Given the description of an element on the screen output the (x, y) to click on. 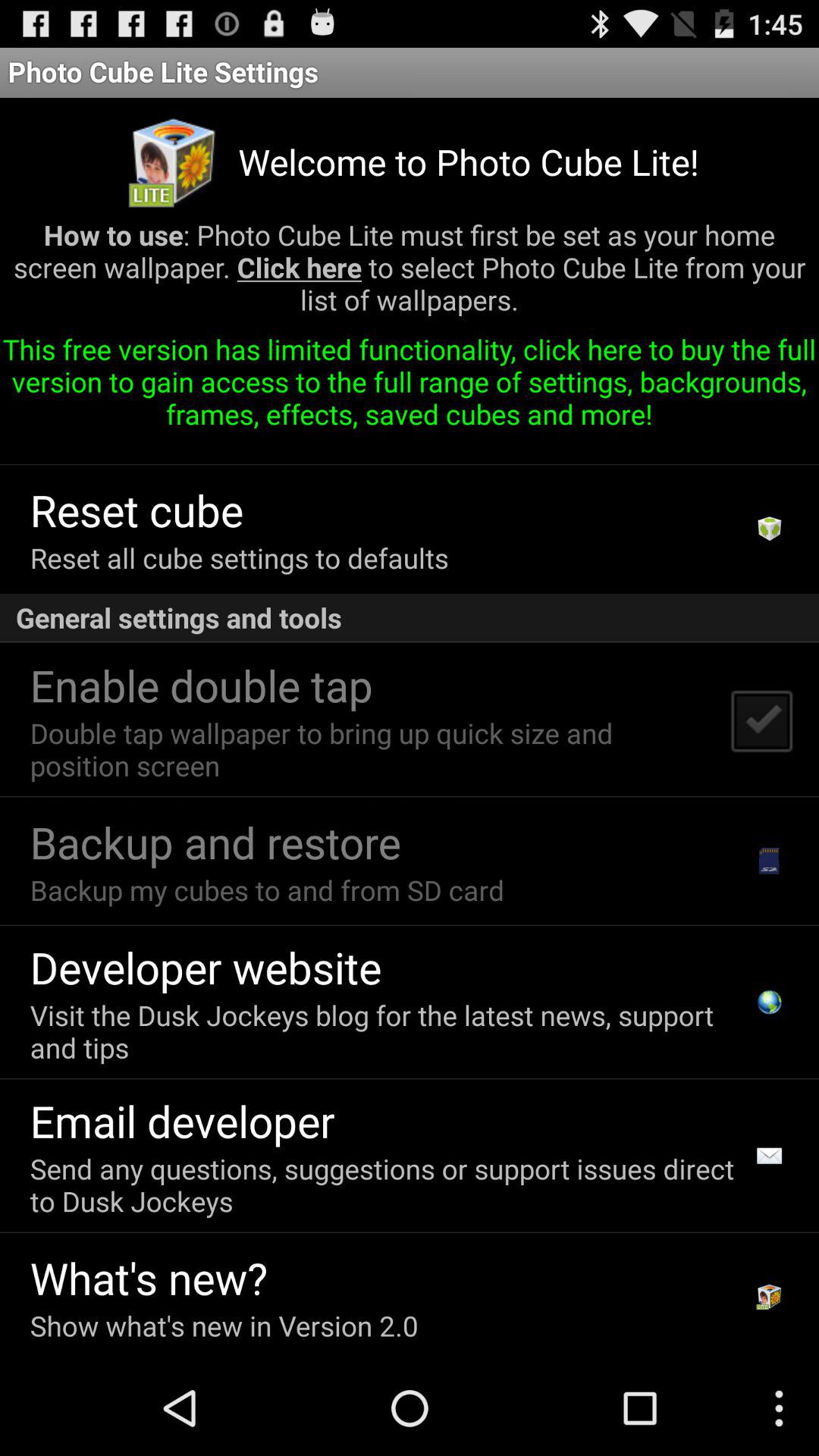
select item to the right of the send any questions item (769, 1155)
